Given the description of an element on the screen output the (x, y) to click on. 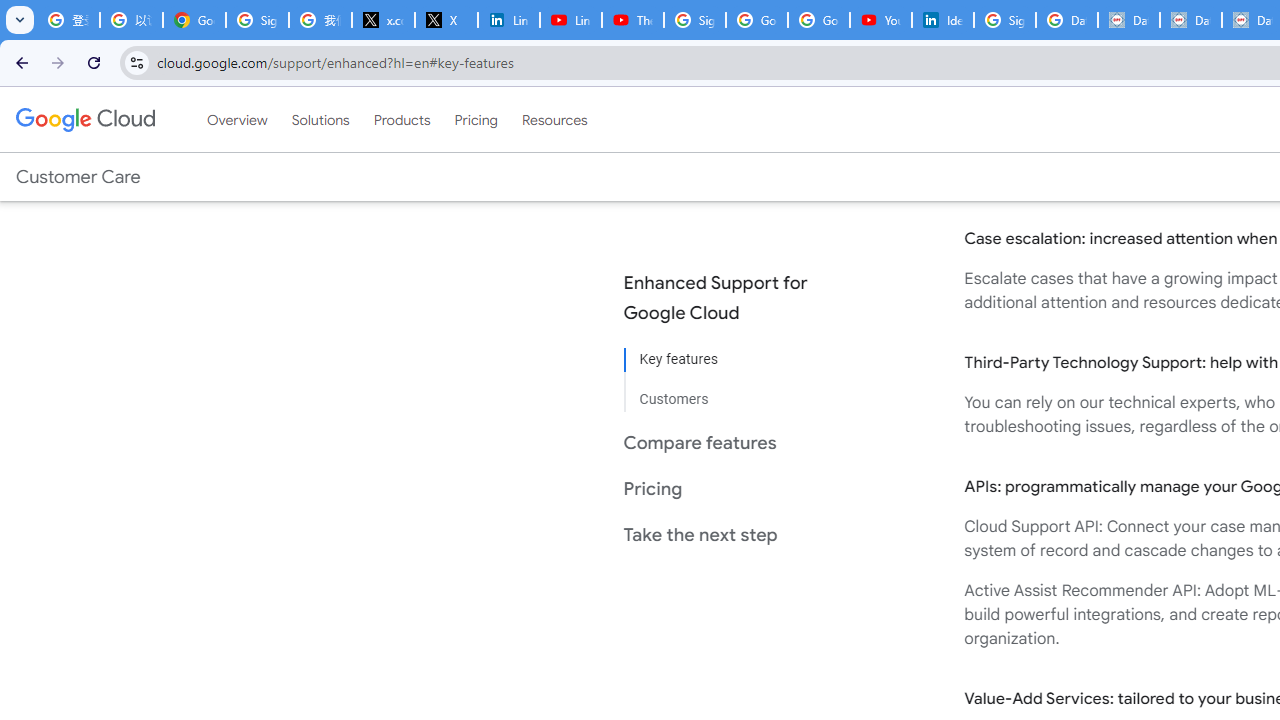
Pricing (476, 119)
Key features (732, 359)
Resources (553, 119)
Sign in - Google Accounts (1004, 20)
Google Cloud (84, 119)
Sign in - Google Accounts (257, 20)
LinkedIn - YouTube (570, 20)
Customers (732, 391)
Data Privacy Framework (1128, 20)
